Given the description of an element on the screen output the (x, y) to click on. 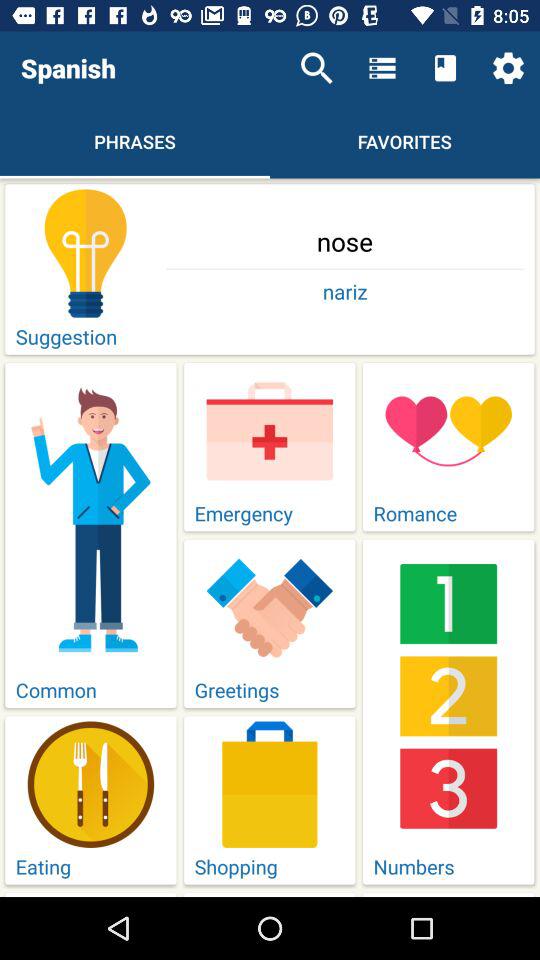
choose the icon above the favorites item (444, 67)
